Given the description of an element on the screen output the (x, y) to click on. 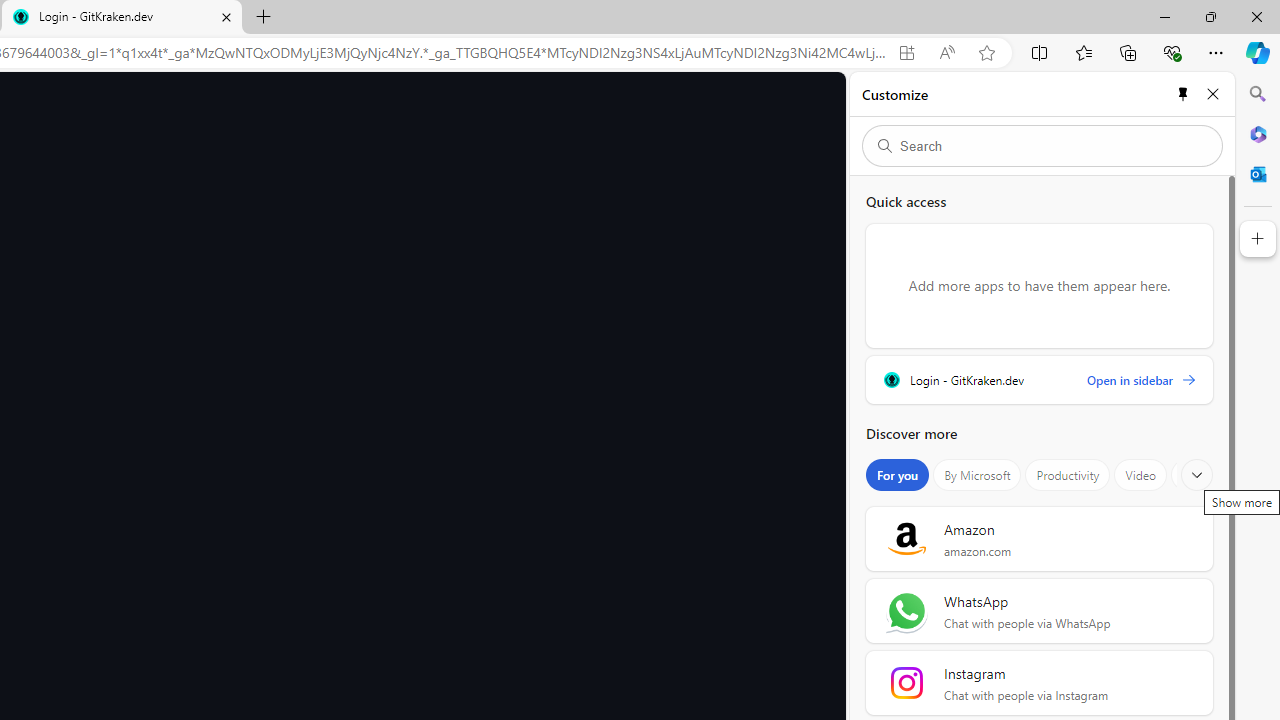
Music (1197, 475)
Unpin side pane (1182, 93)
Video (1140, 475)
App available. Install GitKraken.dev (906, 53)
